Given the description of an element on the screen output the (x, y) to click on. 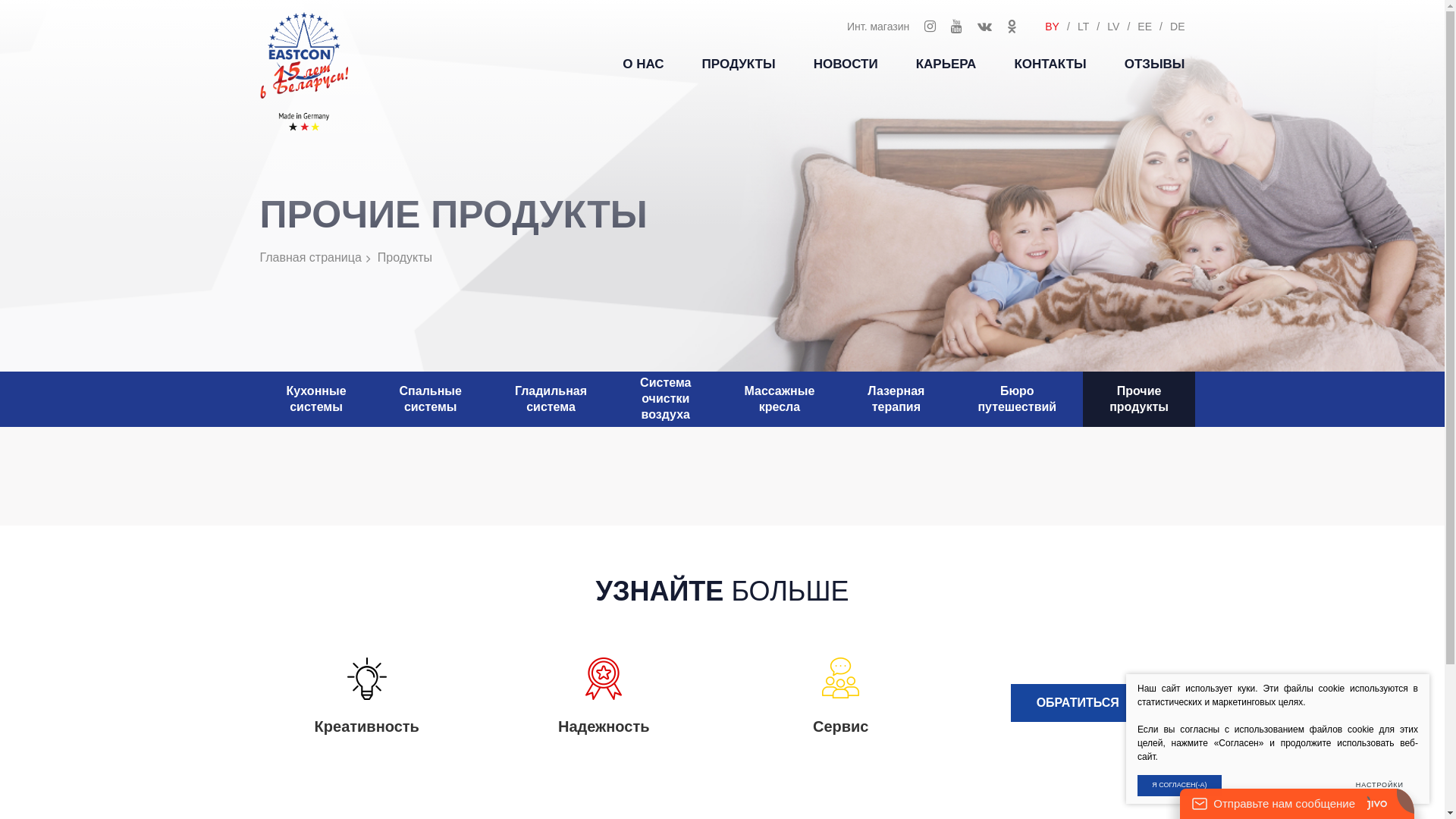
BY Element type: text (1051, 26)
LV Element type: text (1113, 26)
DE Element type: text (1177, 26)
EE Element type: text (1144, 26)
LT Element type: text (1083, 26)
